Given the description of an element on the screen output the (x, y) to click on. 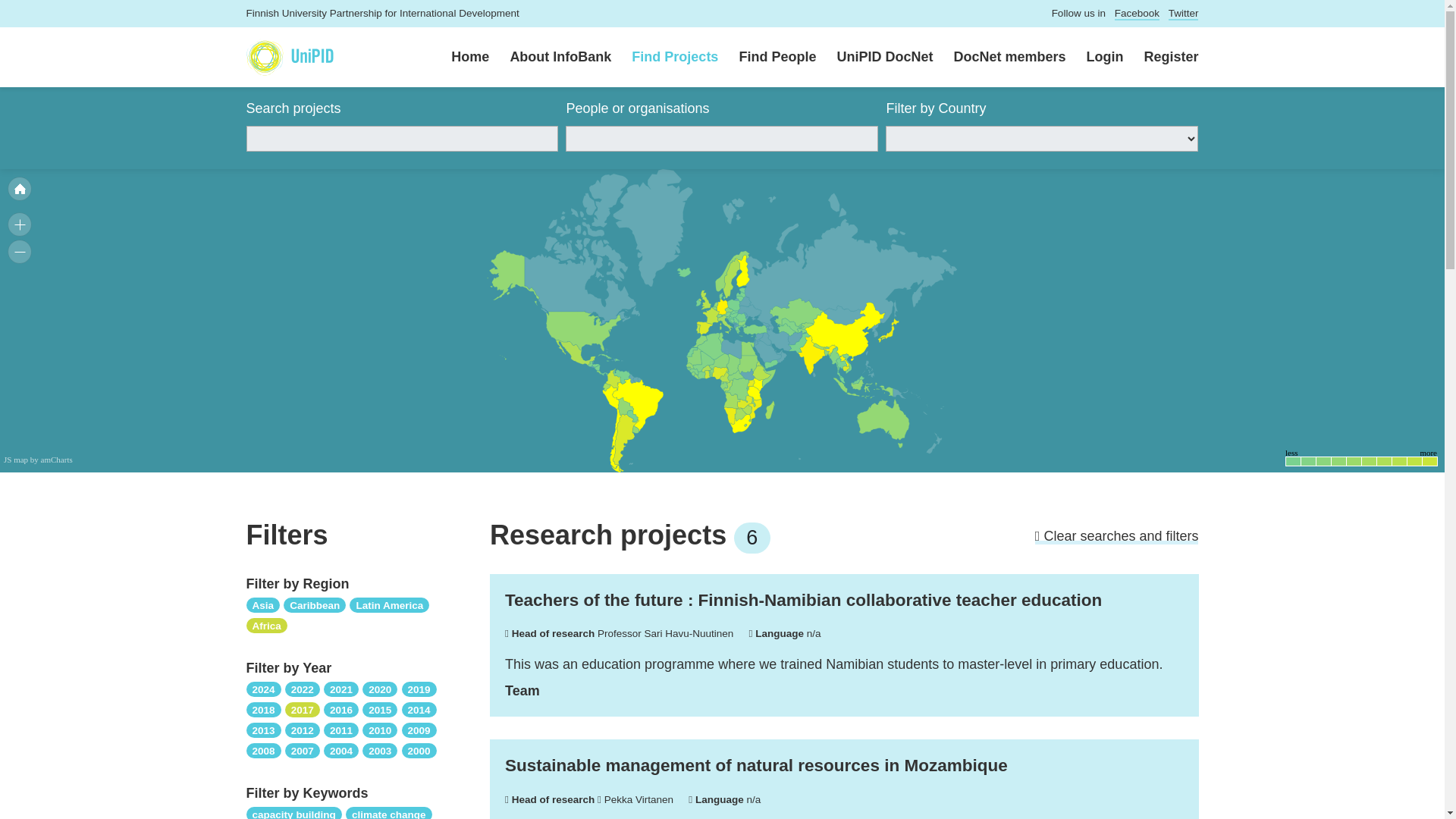
2019 (418, 688)
2009 (418, 729)
2013 (263, 729)
JS map by amCharts (38, 459)
Africa (266, 624)
Interactive JavaScript maps (38, 459)
Latin America (389, 604)
2015 (379, 708)
2017 (302, 708)
UniPID Infobank (289, 57)
capacity building (293, 812)
2011 (340, 729)
2012 (302, 729)
About InfoBank (550, 56)
2024 (263, 688)
